Given the description of an element on the screen output the (x, y) to click on. 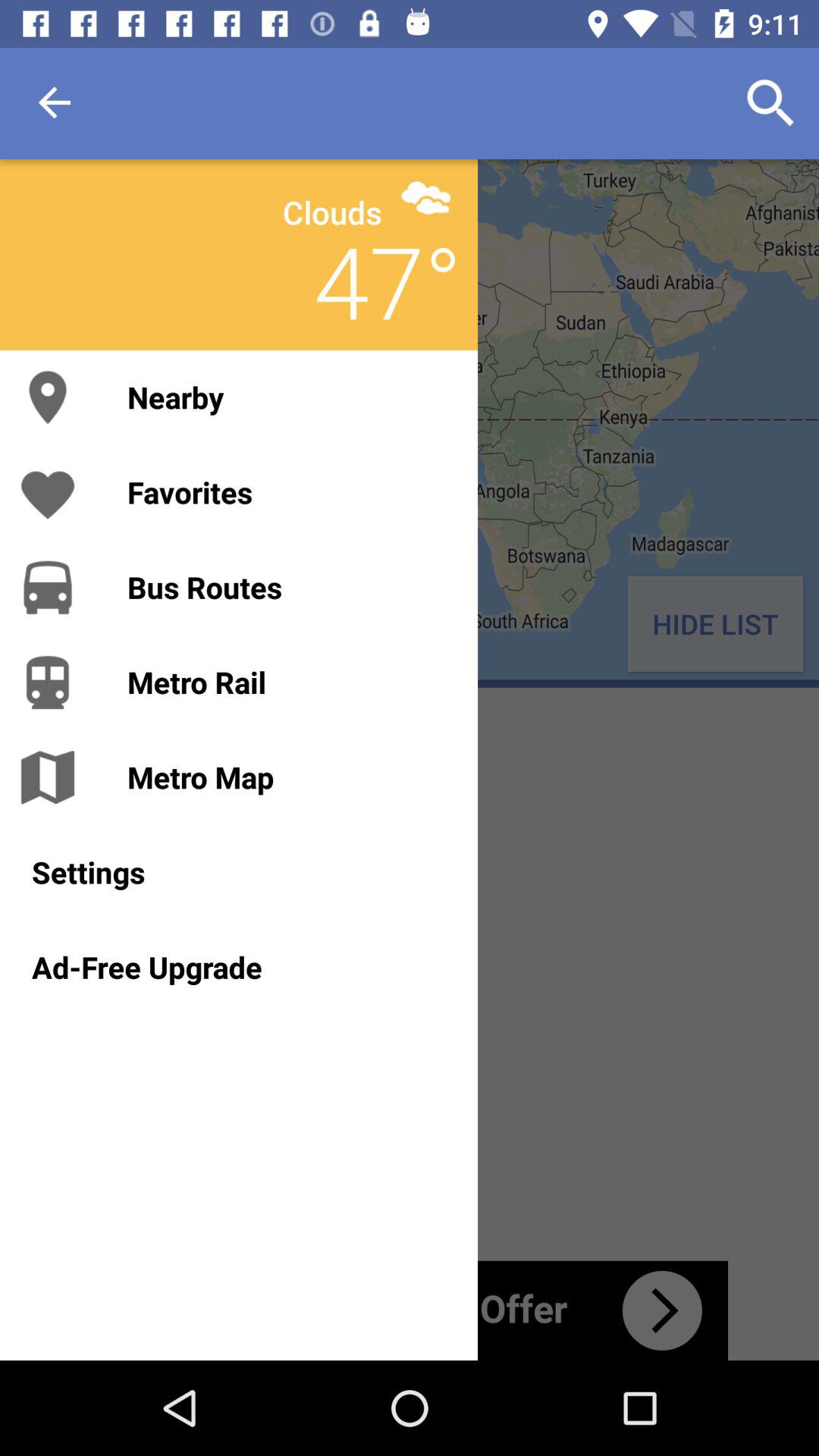
scroll until the bus routes icon (286, 587)
